Given the description of an element on the screen output the (x, y) to click on. 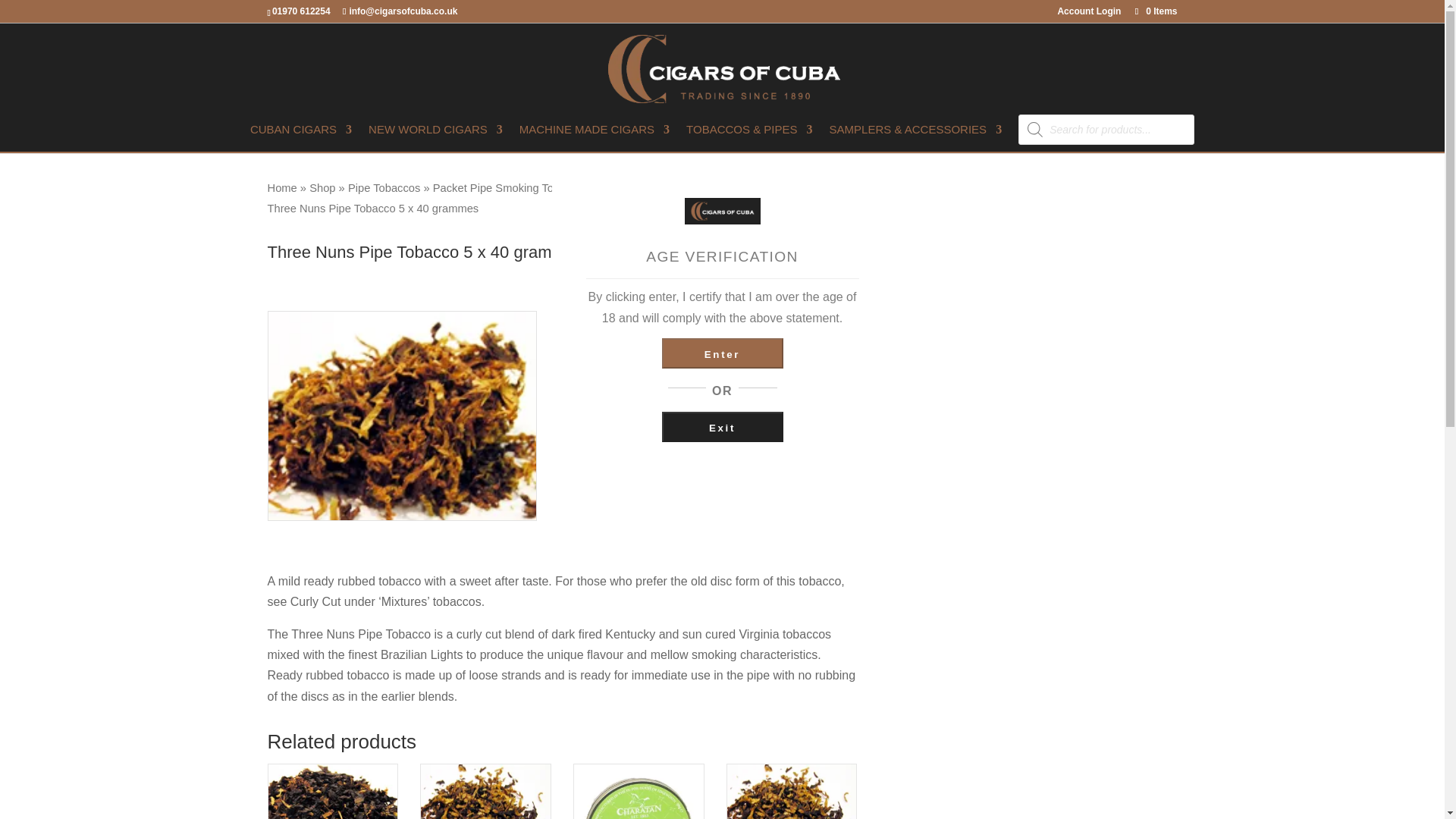
01970 612254 (302, 10)
OLYMPUS DIGITAL CAMERA (402, 415)
Account Login (1089, 14)
1 (608, 377)
0 Items (1154, 10)
NEW WORLD CIGARS (435, 137)
CUBAN CIGARS (301, 137)
